Given the description of an element on the screen output the (x, y) to click on. 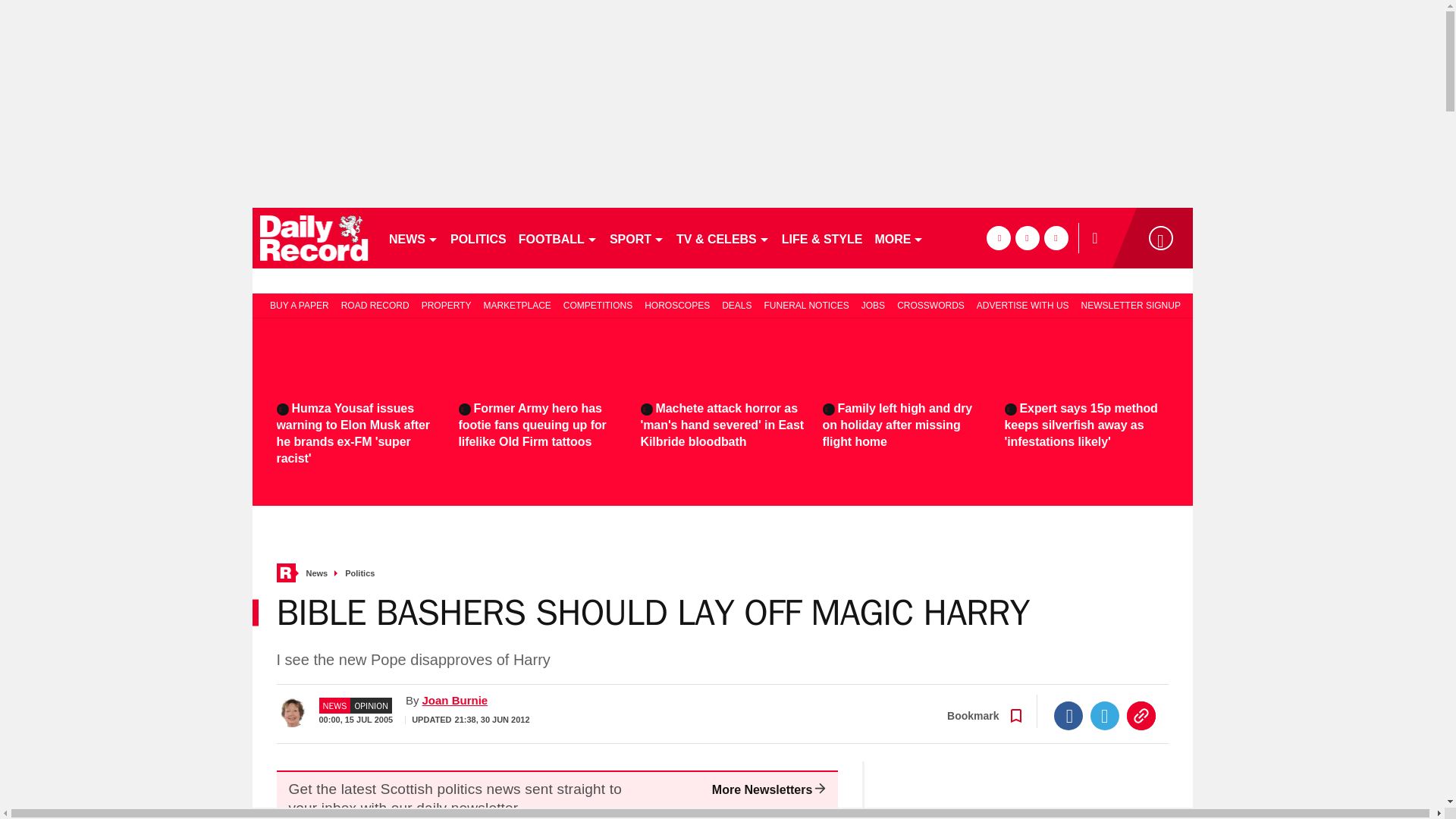
twitter (1026, 238)
facebook (997, 238)
NEWS (413, 238)
SPORT (636, 238)
dailyrecord (313, 238)
FOOTBALL (558, 238)
Facebook (1068, 715)
POLITICS (478, 238)
Twitter (1104, 715)
instagram (1055, 238)
